Given the description of an element on the screen output the (x, y) to click on. 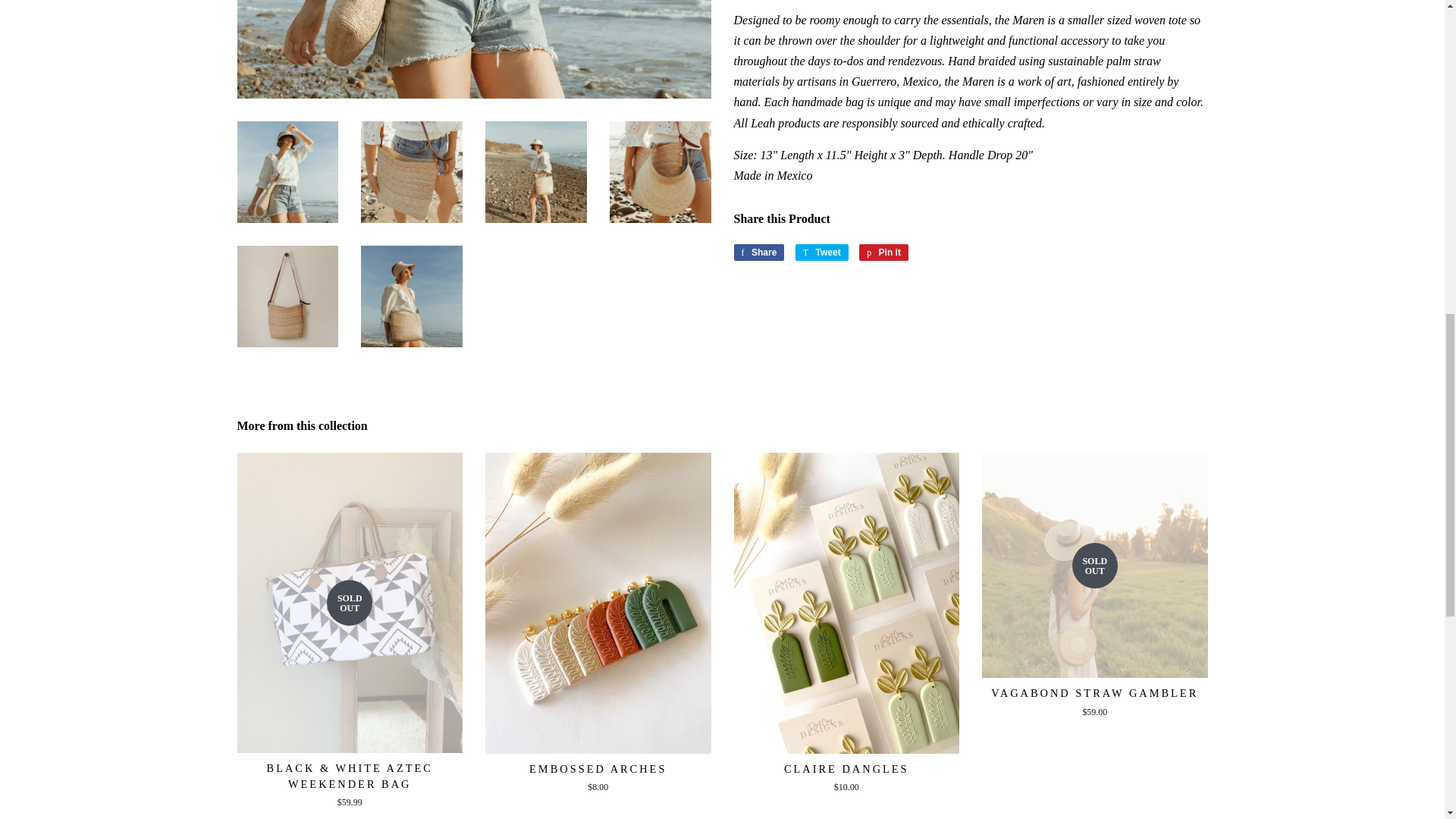
Tweet on Twitter (821, 252)
Pin on Pinterest (883, 252)
Share on Facebook (758, 252)
